Given the description of an element on the screen output the (x, y) to click on. 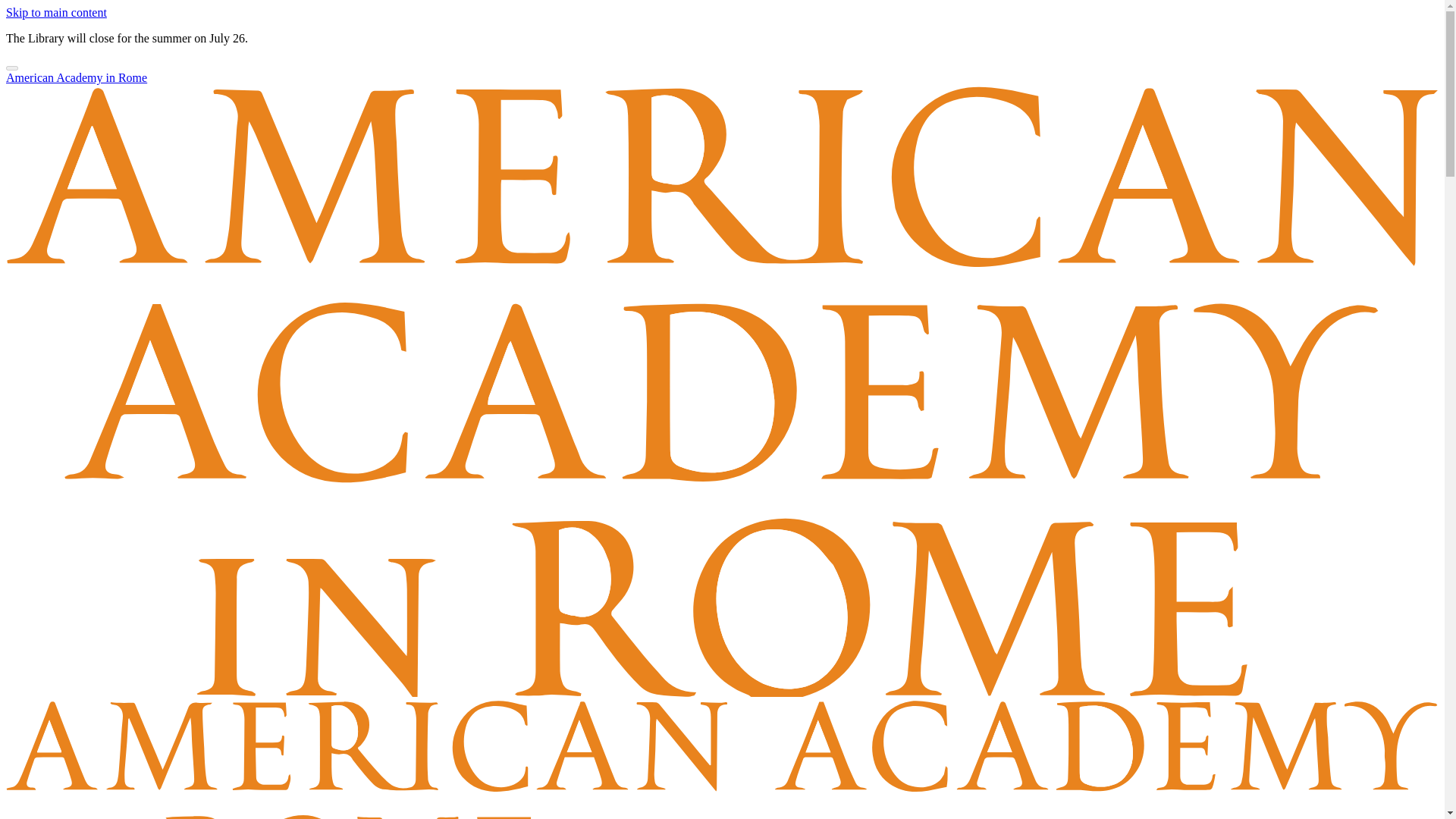
Skip to main content (55, 11)
